Given the description of an element on the screen output the (x, y) to click on. 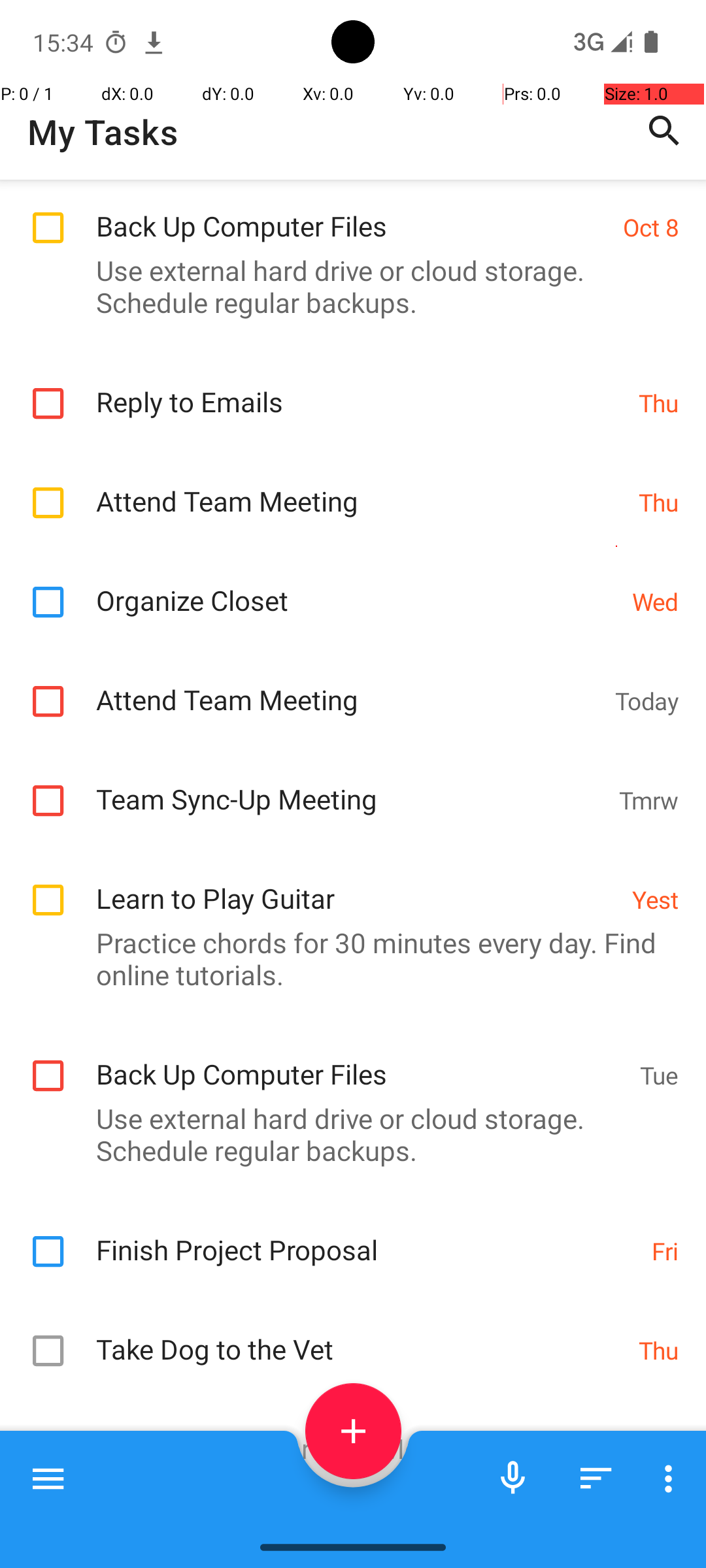
Team Sync-Up Meeting Element type: android.widget.TextView (350, 784)
